Given the description of an element on the screen output the (x, y) to click on. 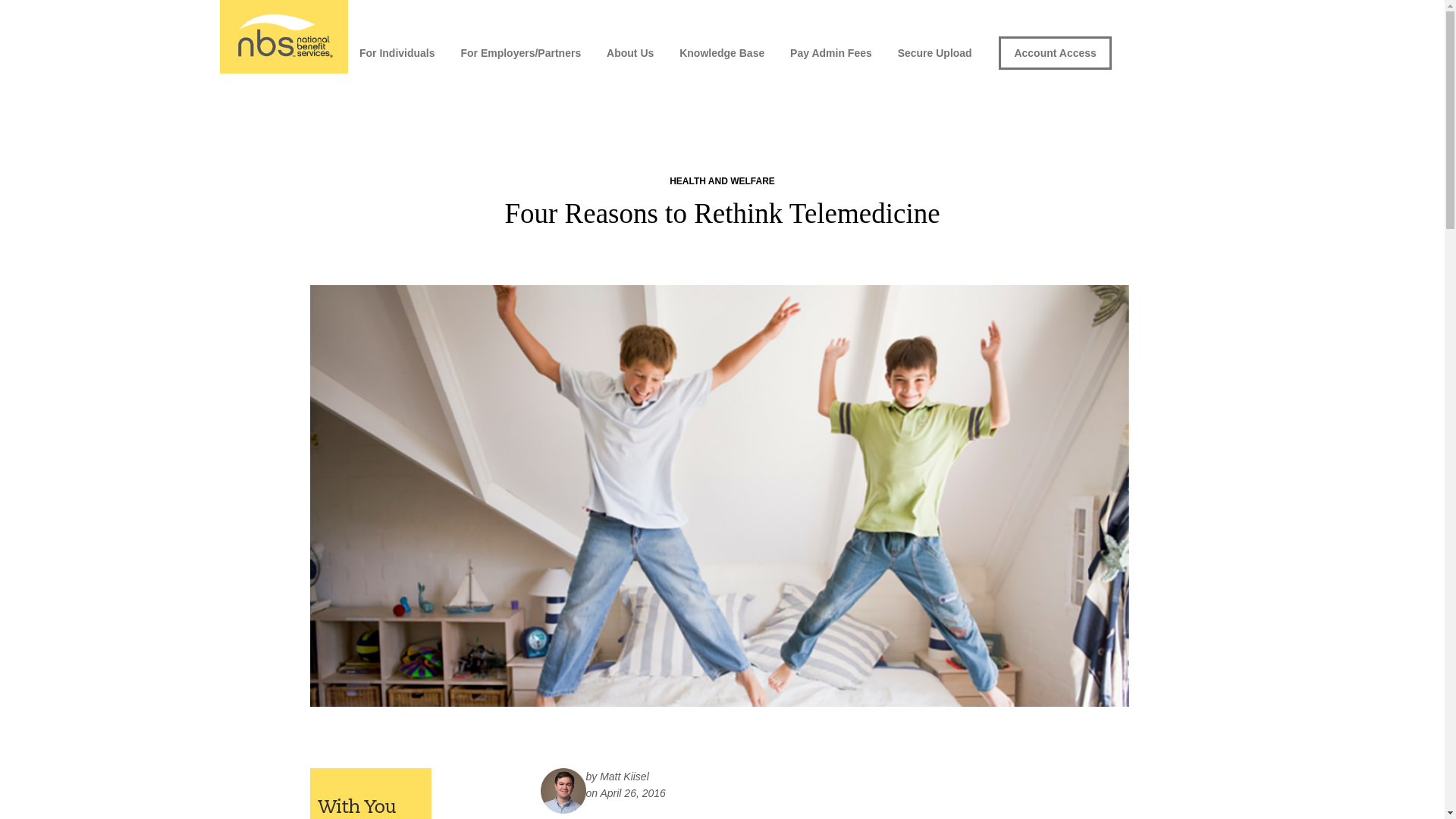
About Us (630, 52)
For Individuals (397, 52)
Knowledge Base (721, 52)
Account Access (1054, 52)
Pay Admin Fees (831, 52)
HEALTH AND WELFARE (721, 181)
Secure Upload (935, 52)
